Given the description of an element on the screen output the (x, y) to click on. 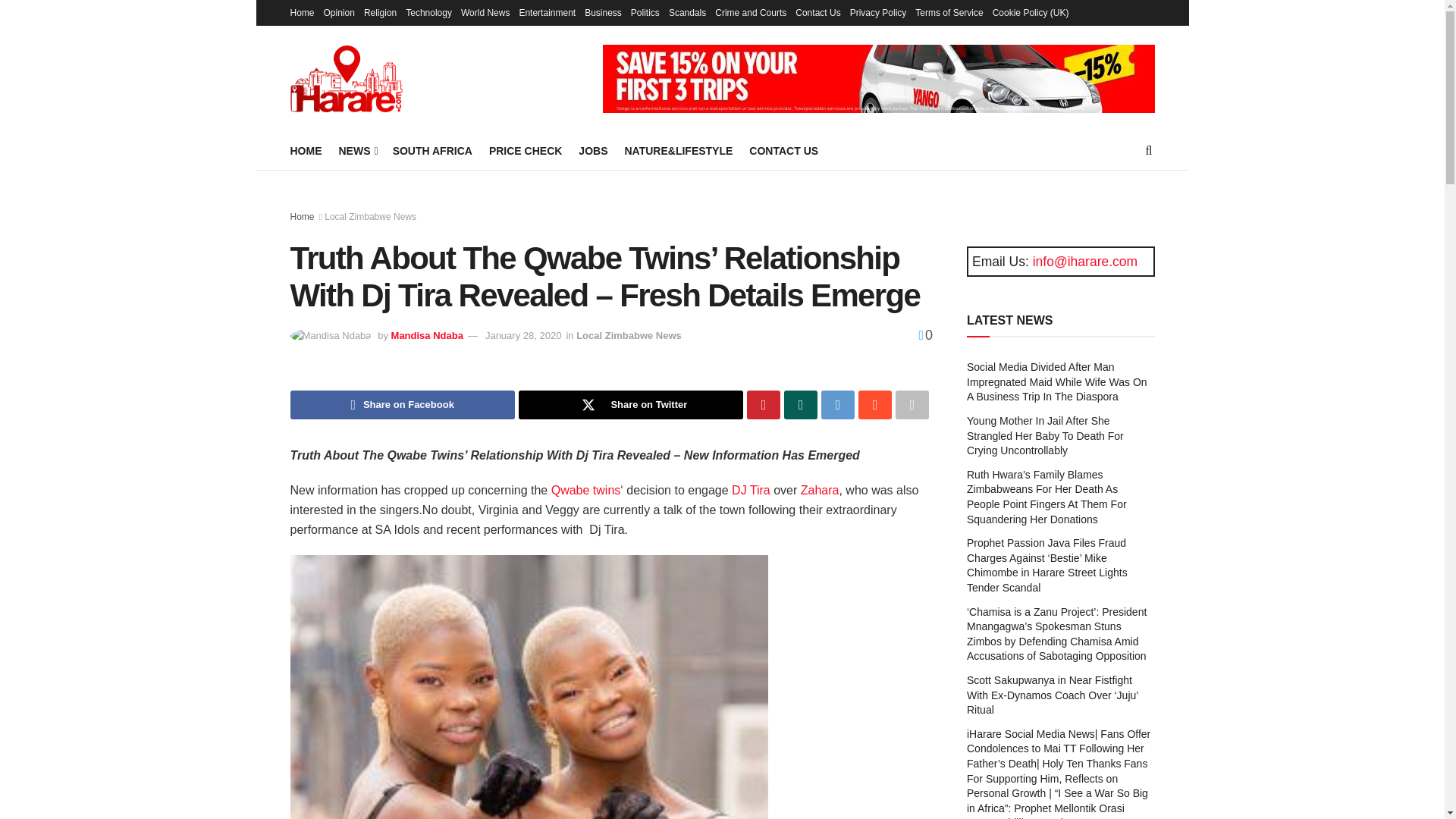
Home (301, 12)
NEWS (356, 150)
Business (603, 12)
Contact Us (817, 12)
Scandals (687, 12)
Crime and Courts (750, 12)
Technology (428, 12)
Politics (644, 12)
SOUTH AFRICA (432, 150)
JOBS (592, 150)
